Given the description of an element on the screen output the (x, y) to click on. 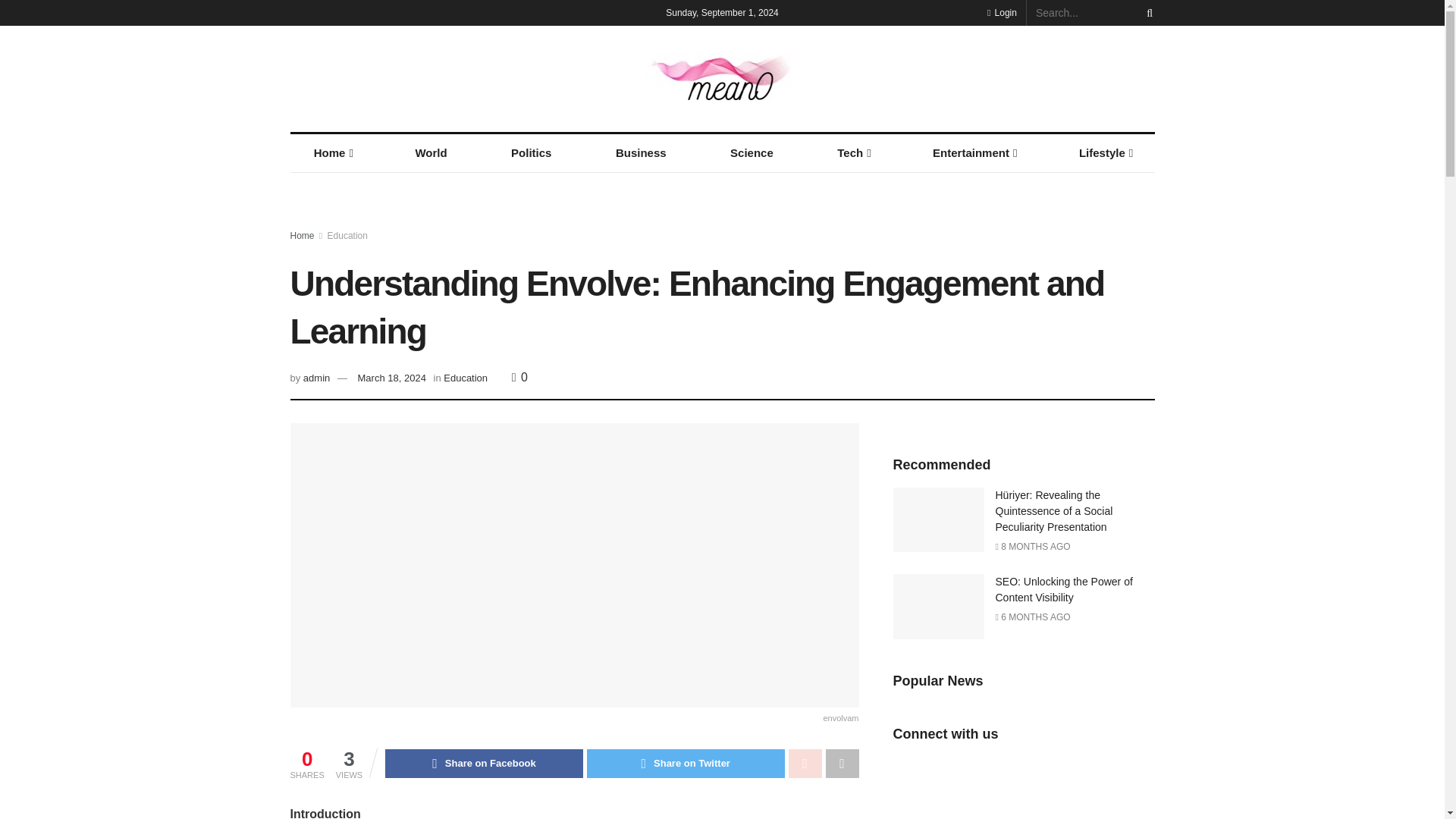
World (430, 152)
Politics (531, 152)
Entertainment (973, 152)
Login (1001, 12)
Science (751, 152)
Home (331, 152)
Tech (852, 152)
Business (641, 152)
